Given the description of an element on the screen output the (x, y) to click on. 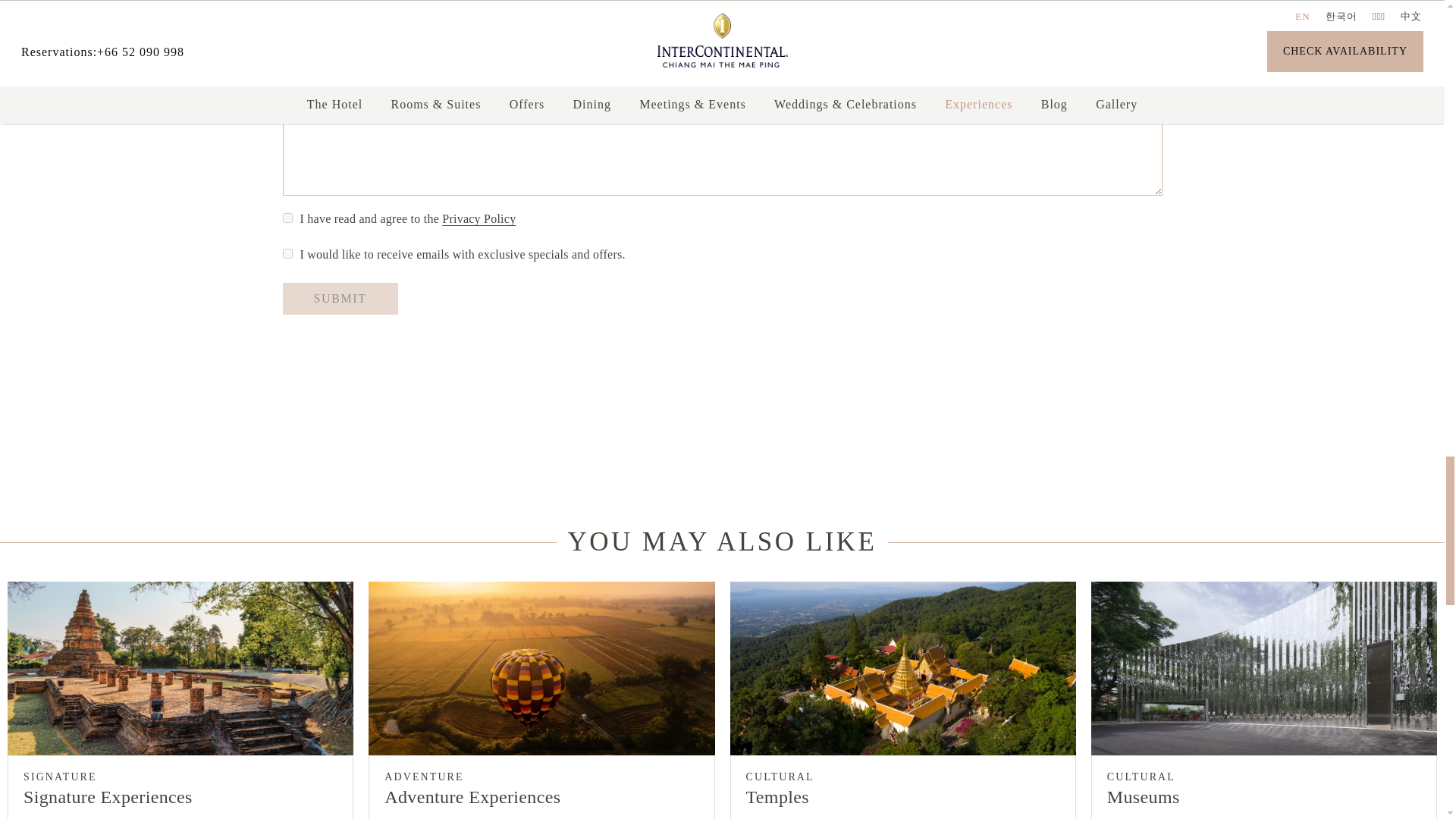
Outdoor Activities (498, 50)
Submit (339, 298)
Subscribe (287, 253)
Agreed (287, 217)
